Given the description of an element on the screen output the (x, y) to click on. 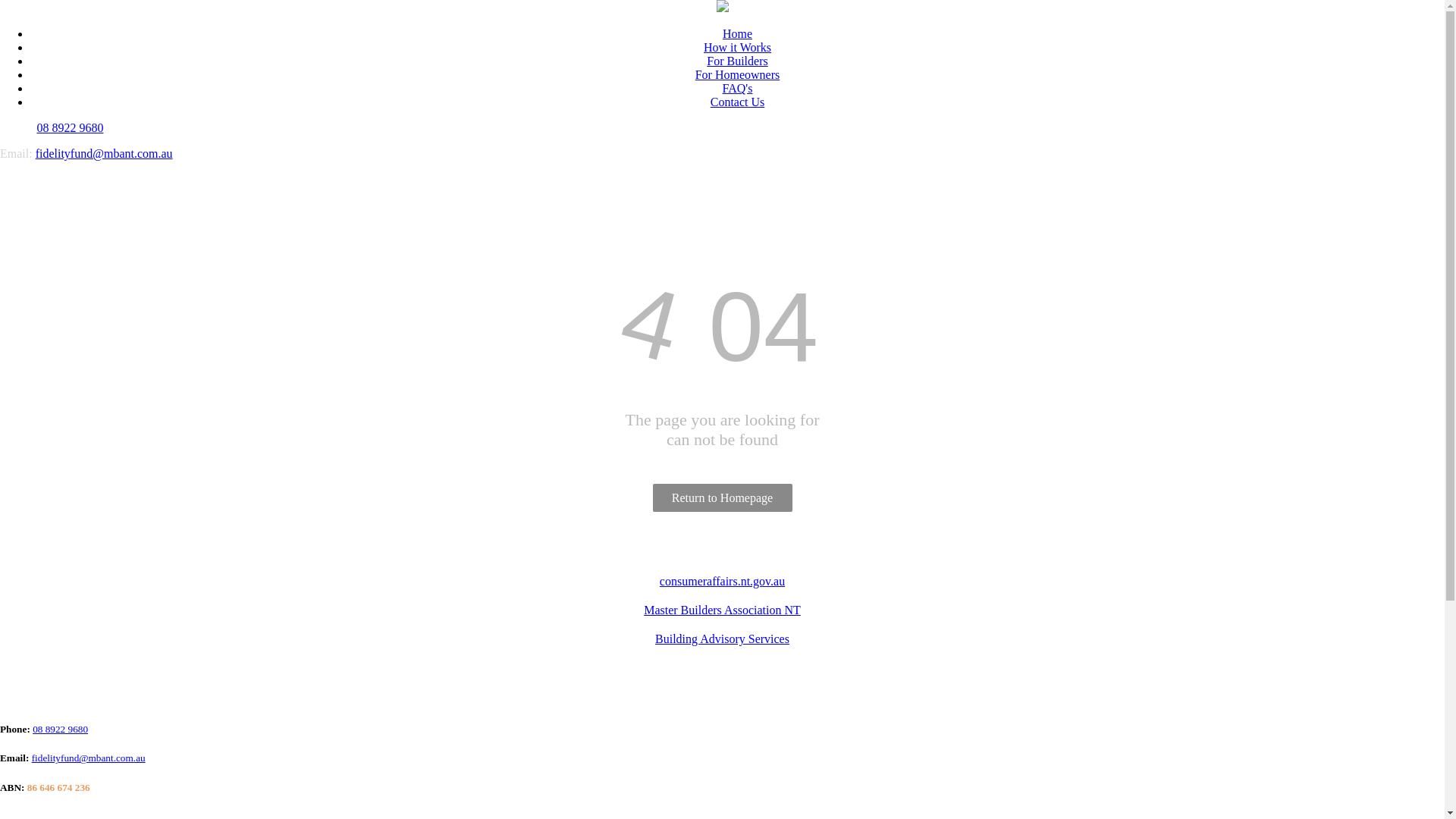
08 8922 9680 Element type: text (69, 127)
Home Element type: text (737, 33)
Master Builders Association NT Element type: text (721, 609)
fidelityfund@mbant.com.au Element type: text (103, 153)
consumeraffairs.nt.gov.au Element type: text (721, 580)
Contact Us Element type: text (737, 101)
Building Advisory Services Element type: text (722, 638)
FAQ's Element type: text (737, 87)
Return to Homepage Element type: text (721, 497)
08 8922 9680 Element type: text (59, 728)
For Homeowners Element type: text (737, 74)
fidelityfund@mbant.com.au Element type: text (88, 757)
How it Works Element type: text (737, 46)
For Builders Element type: text (736, 60)
